Given the description of an element on the screen output the (x, y) to click on. 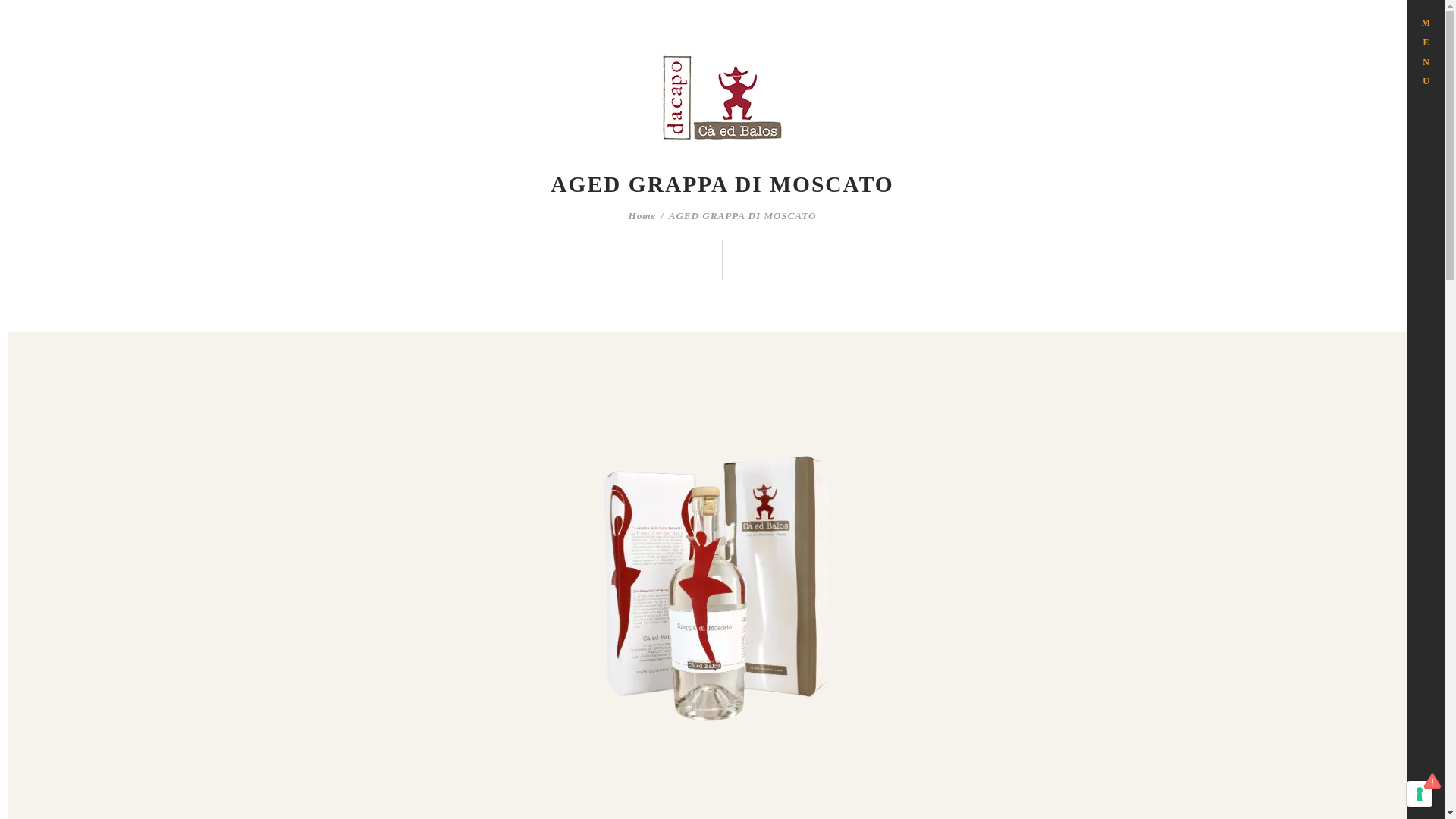
Home (641, 216)
